Given the description of an element on the screen output the (x, y) to click on. 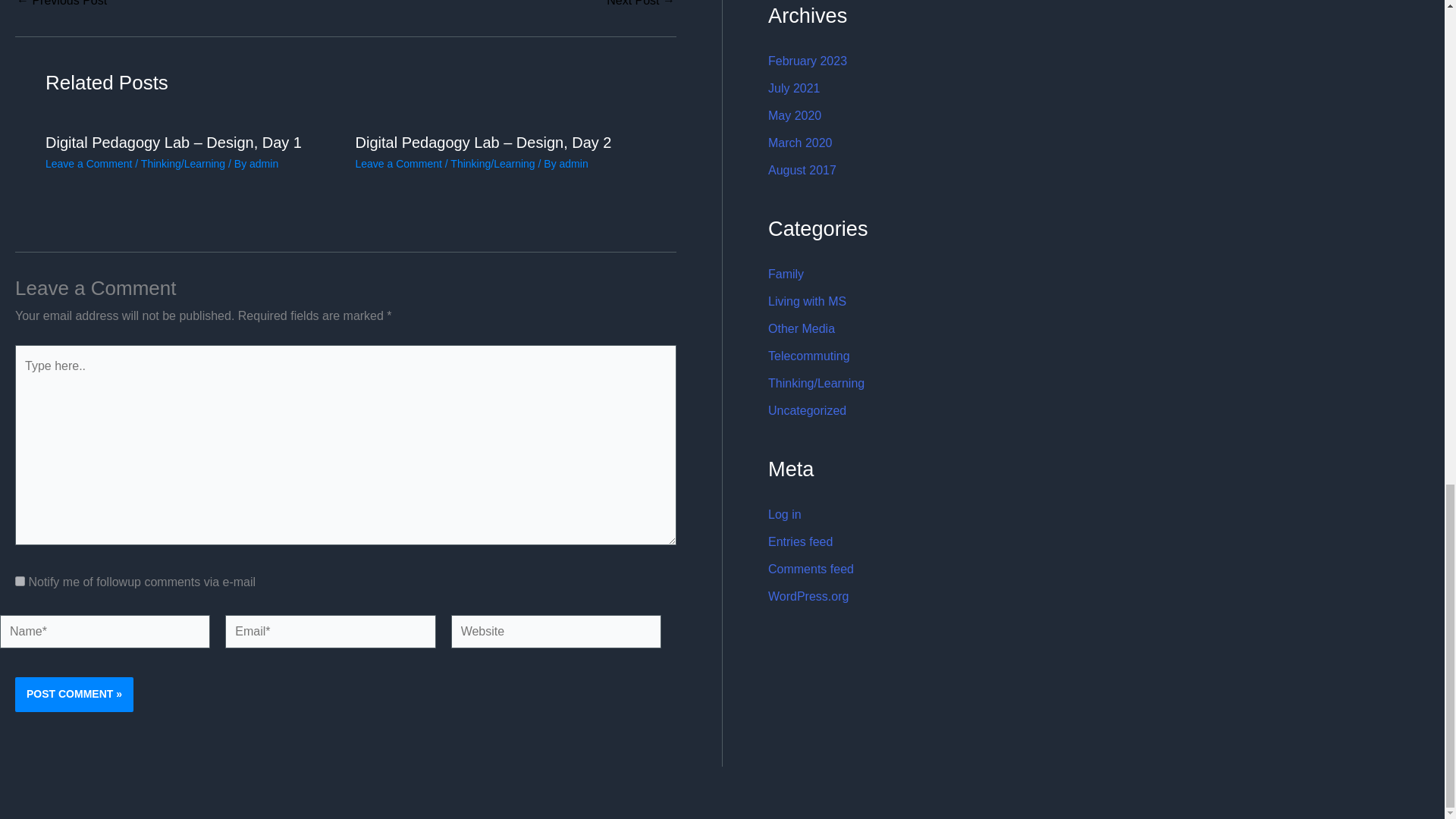
May 2020 (794, 115)
subscribe (19, 581)
August 2017 (801, 169)
February 2023 (807, 60)
Telecommuting (809, 355)
Impostor's Ice Cream Cake (61, 3)
View all posts by admin (573, 163)
View all posts by admin (263, 163)
Leave a Comment (88, 163)
Zoom Zoom (641, 3)
